Given the description of an element on the screen output the (x, y) to click on. 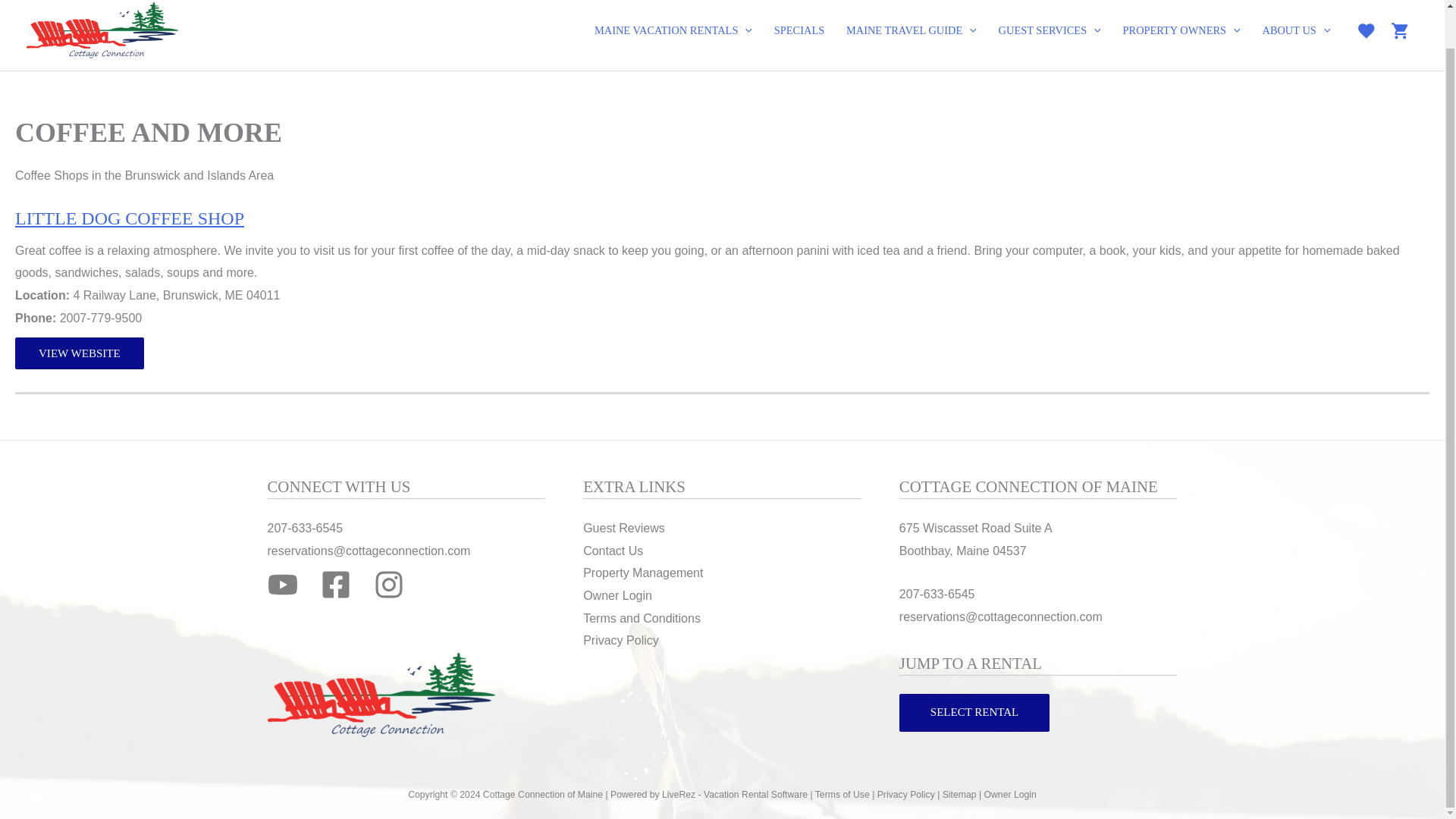
MAINE VACATION RENTALS (672, 30)
MAINE TRAVEL GUIDE (911, 30)
ABOUT US (1295, 30)
GUEST SERVICES (1049, 30)
SPECIALS (798, 30)
PROPERTY OWNERS (1181, 30)
